Given the description of an element on the screen output the (x, y) to click on. 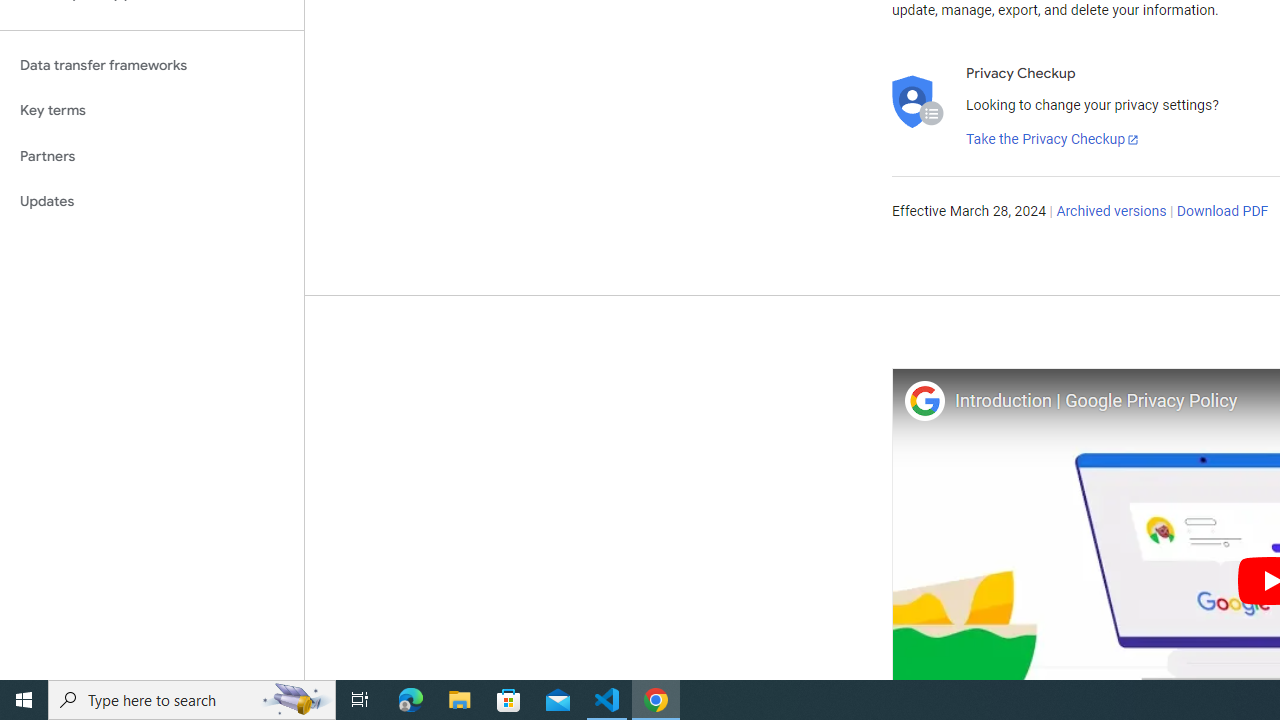
Take the Privacy Checkup (1053, 140)
Archived versions (1111, 212)
Photo image of Google (924, 400)
Download PDF (1222, 212)
